Given the description of an element on the screen output the (x, y) to click on. 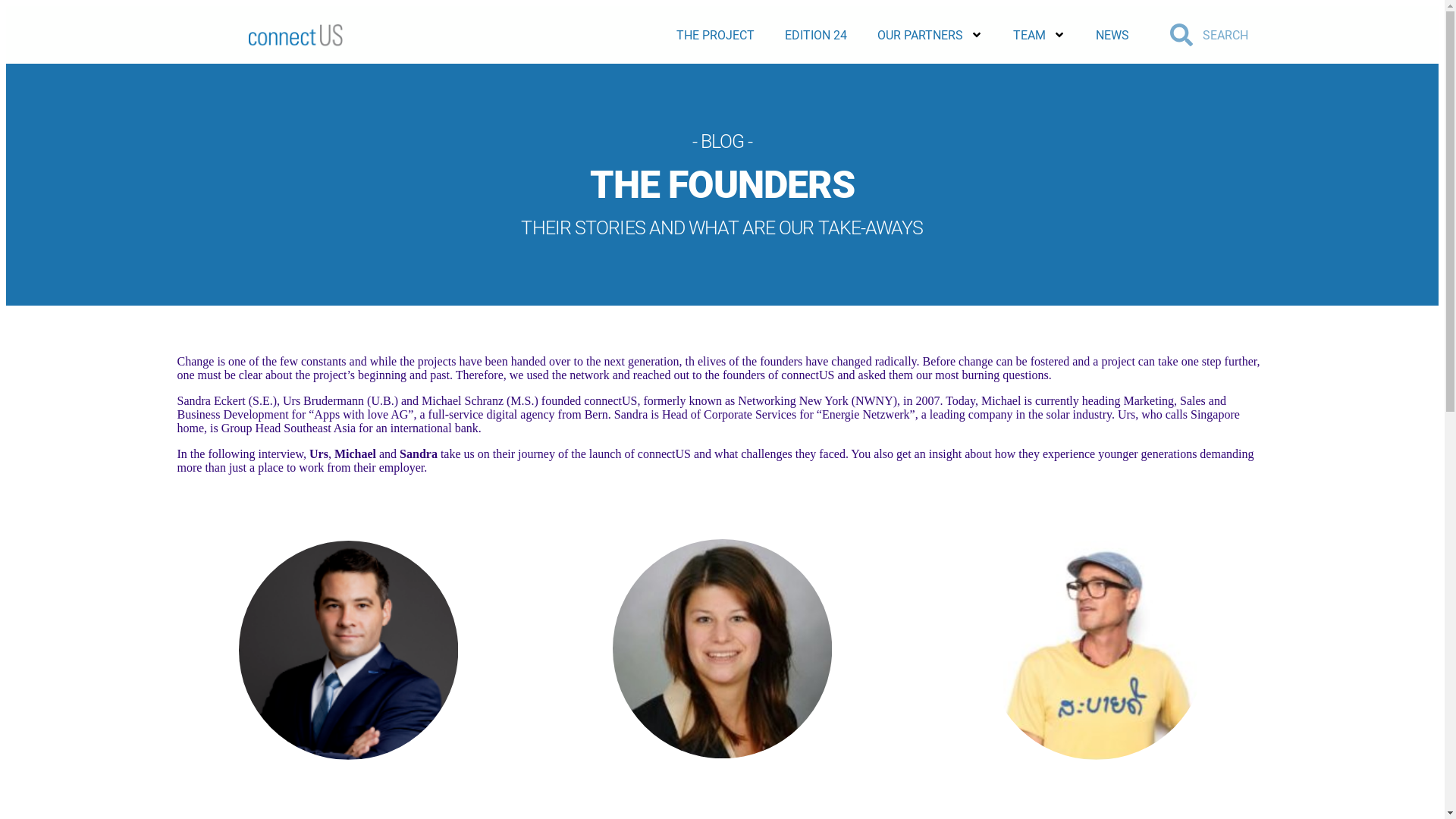
THE PROJECT Element type: text (715, 35)
NEWS Element type: text (1112, 35)
Search Element type: hover (1237, 34)
EDITION 24 Element type: text (815, 35)
OUR PARTNERS Element type: text (929, 35)
TEAM Element type: text (1038, 35)
